Given the description of an element on the screen output the (x, y) to click on. 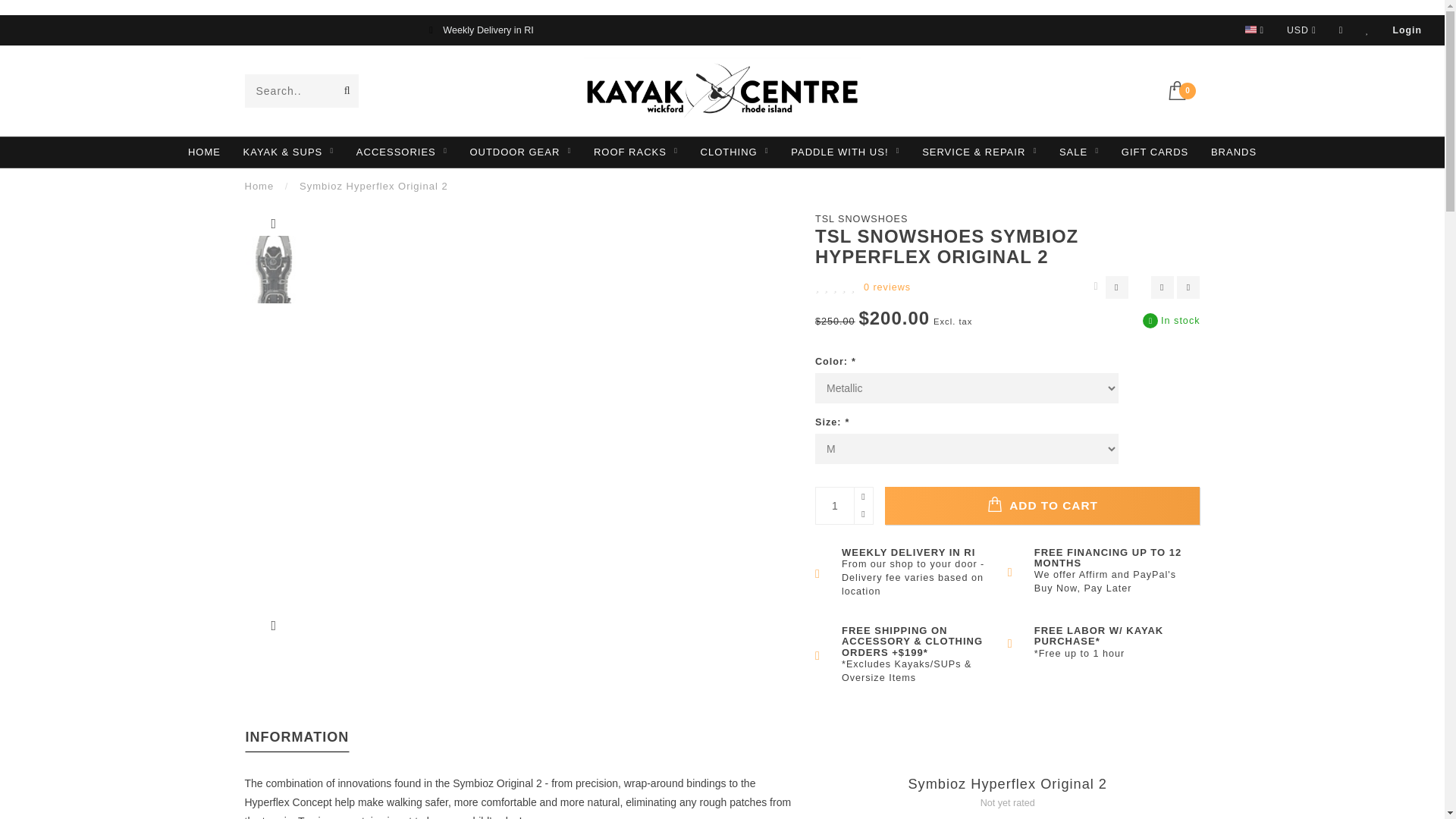
ACCESSORIES (401, 152)
Login (1406, 30)
Home (258, 185)
Add to compare (1187, 287)
1 (843, 505)
USD (1301, 30)
0 (1183, 87)
HOME (204, 152)
Add to wishlist (1162, 287)
